Given the description of an element on the screen output the (x, y) to click on. 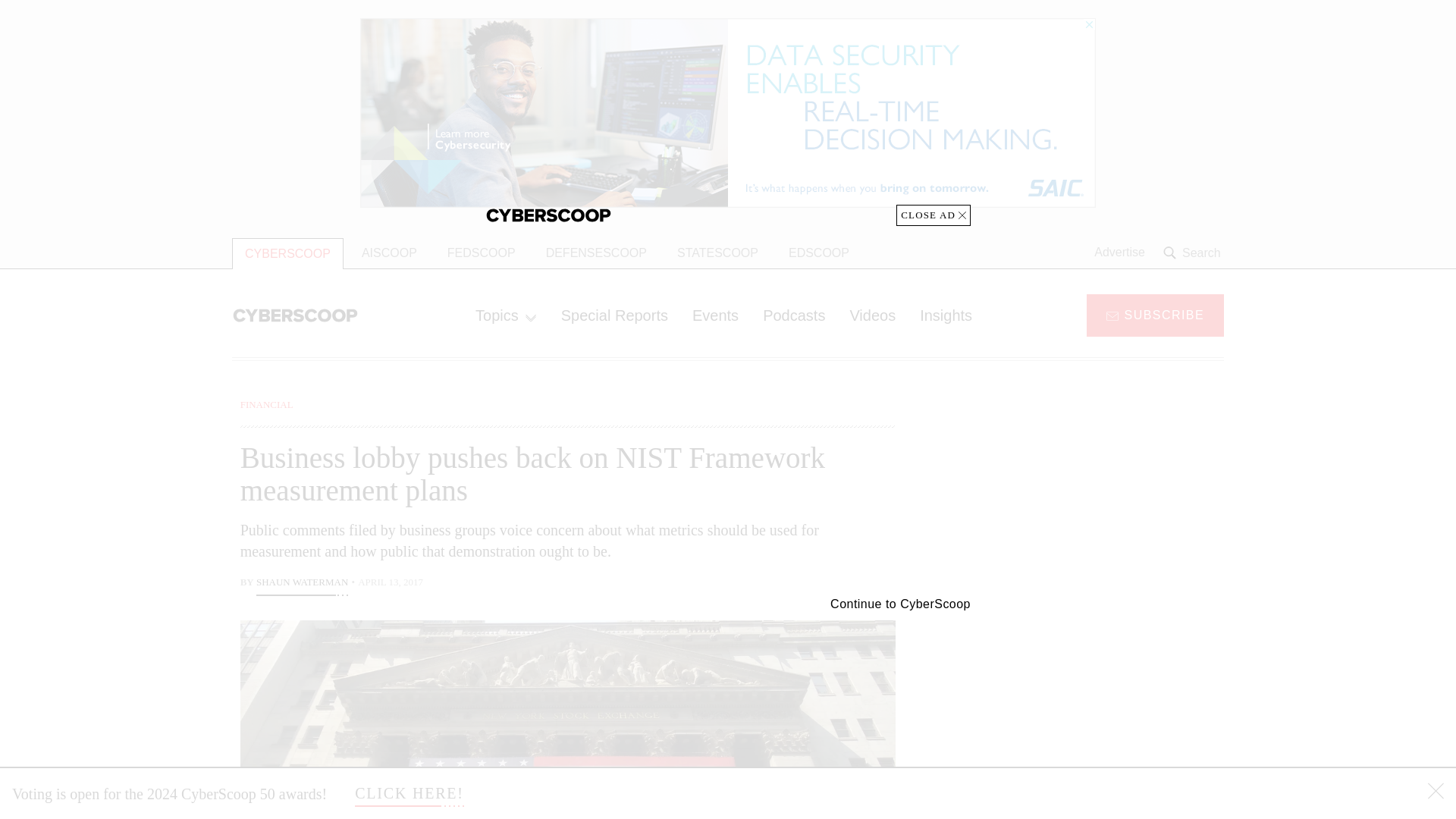
EDSCOOP (818, 253)
Topics (505, 315)
Podcasts (794, 315)
3rd party ad content (1101, 705)
AISCOOP (389, 253)
Shaun Waterman (301, 583)
3rd party ad content (1101, 492)
Special Reports (613, 315)
CLICK HERE! (409, 793)
